Given the description of an element on the screen output the (x, y) to click on. 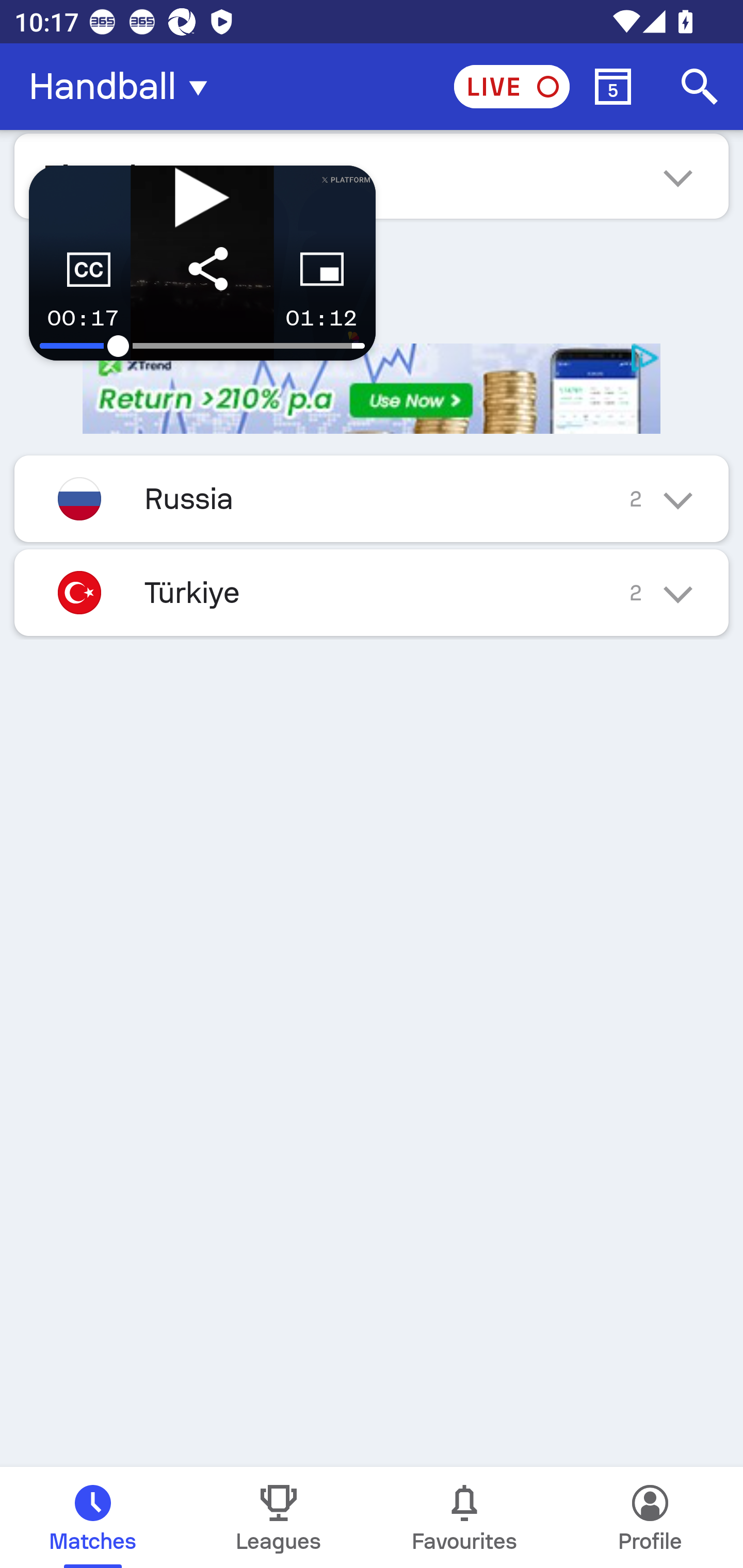
Handball (124, 86)
Calendar (612, 86)
Search (699, 86)
lhtbeqs0_fbmdsvp_phh3wtomqkynjcad (371, 388)
privacy (645, 358)
Russia 2 (371, 498)
Türkiye 2 (371, 592)
Leagues (278, 1517)
Favourites (464, 1517)
Profile (650, 1517)
